Given the description of an element on the screen output the (x, y) to click on. 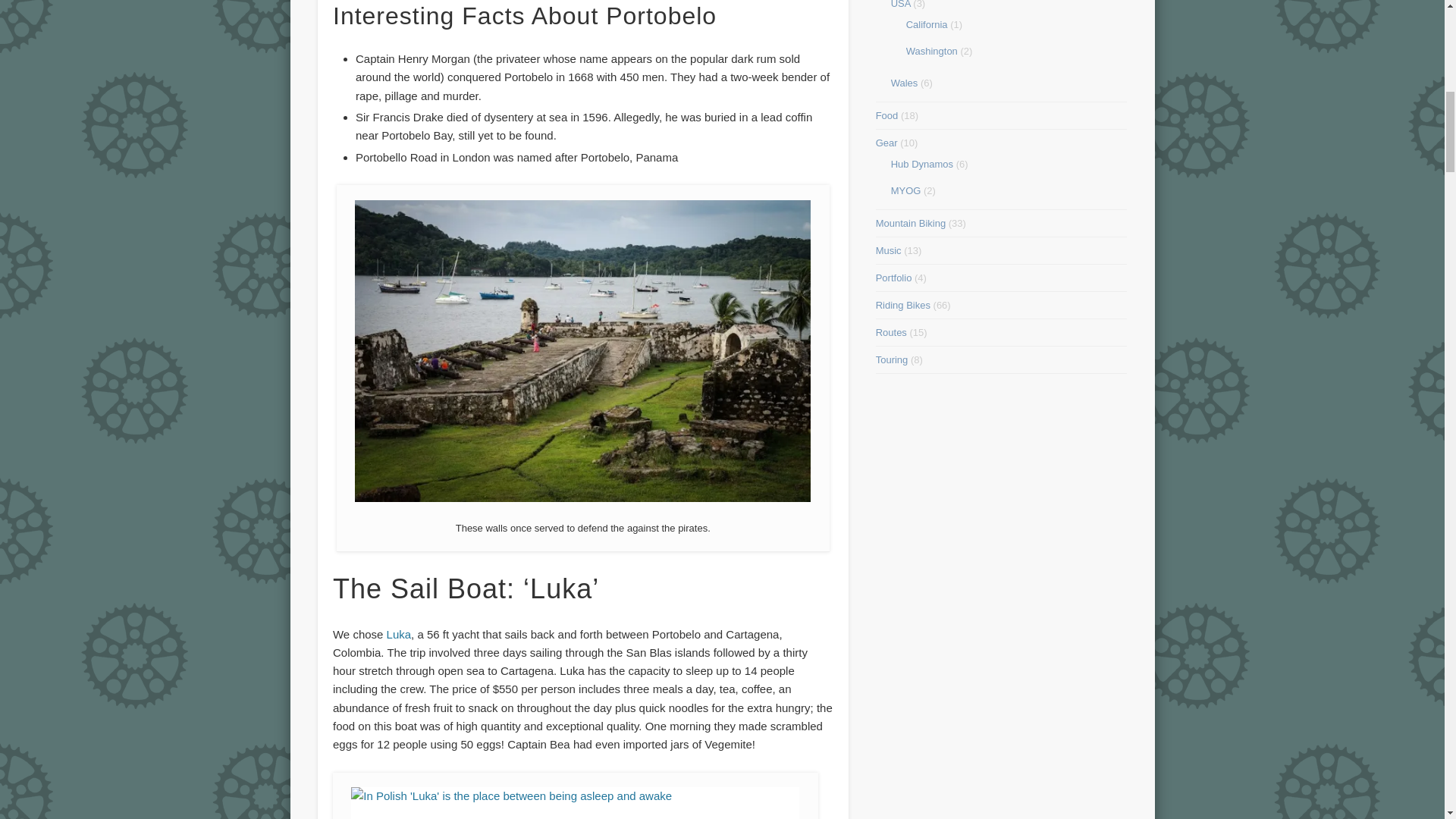
Luka (399, 634)
